Given the description of an element on the screen output the (x, y) to click on. 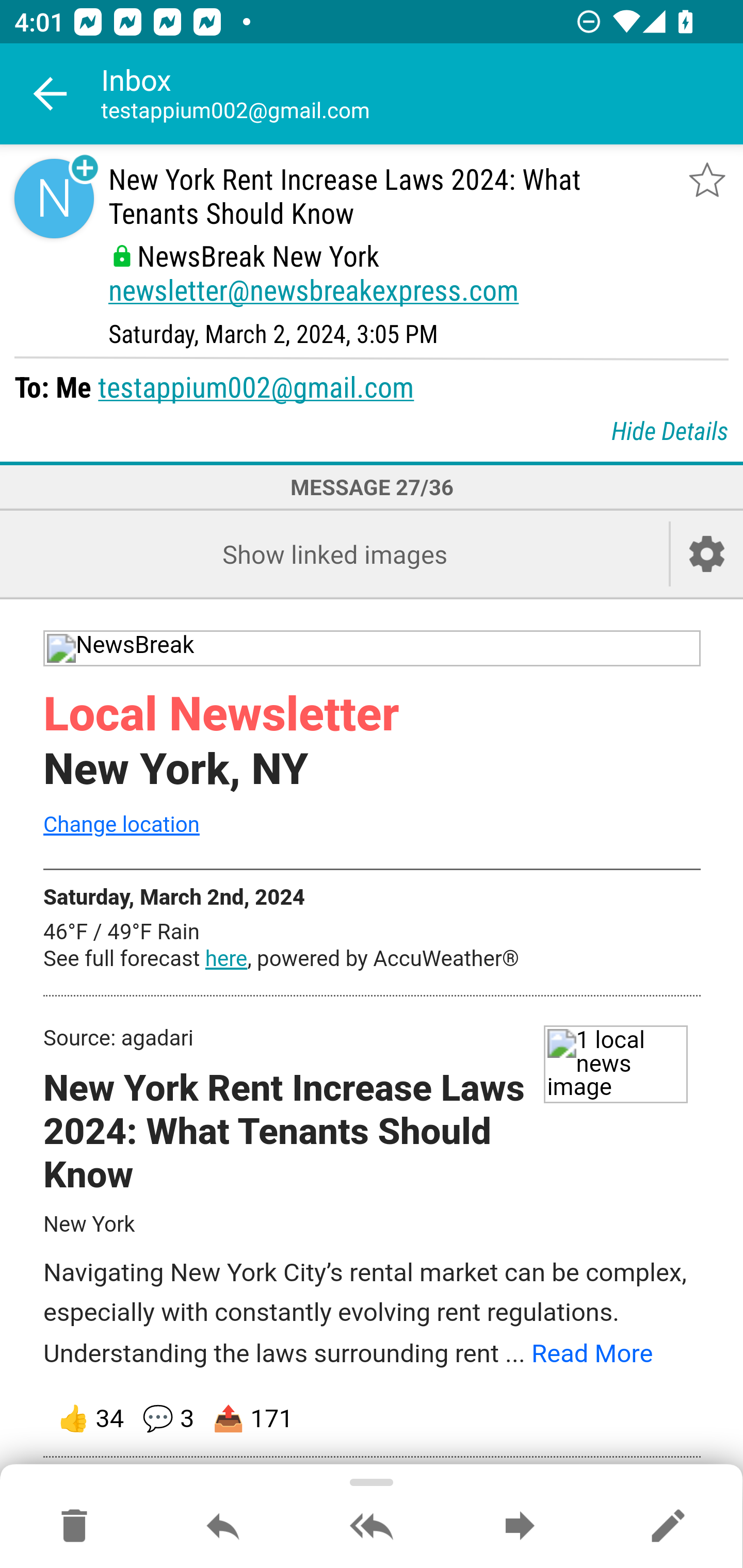
Navigate up (50, 93)
Inbox testappium002@gmail.com (422, 93)
Sender contact button (53, 198)
Show linked images (334, 554)
Account setup (706, 554)
Change location (121, 824)
here (225, 958)
👍 34   💬 3   📤 171 (372, 1419)
Move to Deleted (74, 1527)
Reply (222, 1527)
Reply all (371, 1527)
Forward (519, 1527)
Reply as new (667, 1527)
